Given the description of an element on the screen output the (x, y) to click on. 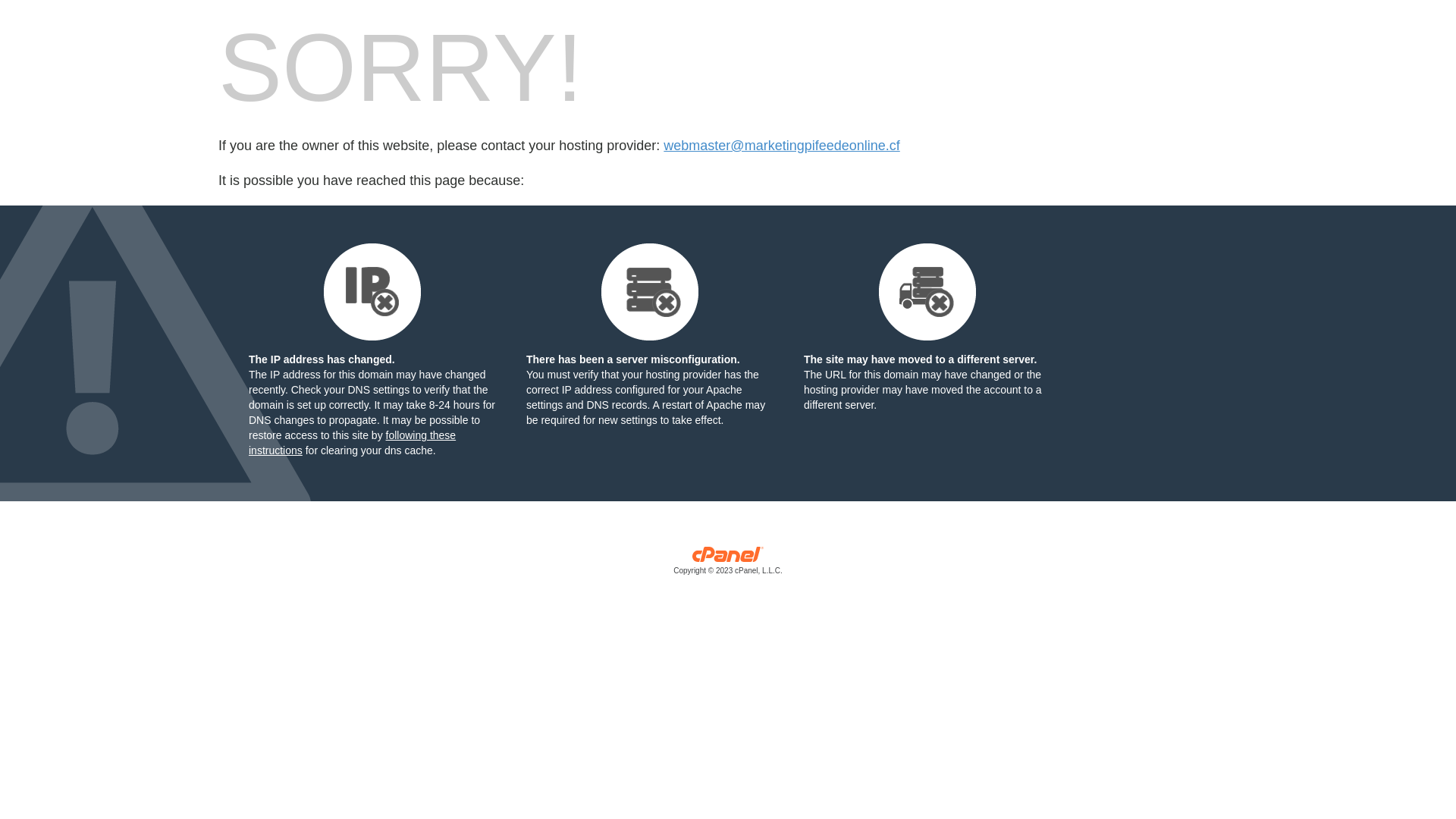
webmaster@marketingpifeedeonline.cf Element type: text (781, 145)
following these instructions Element type: text (351, 442)
